Given the description of an element on the screen output the (x, y) to click on. 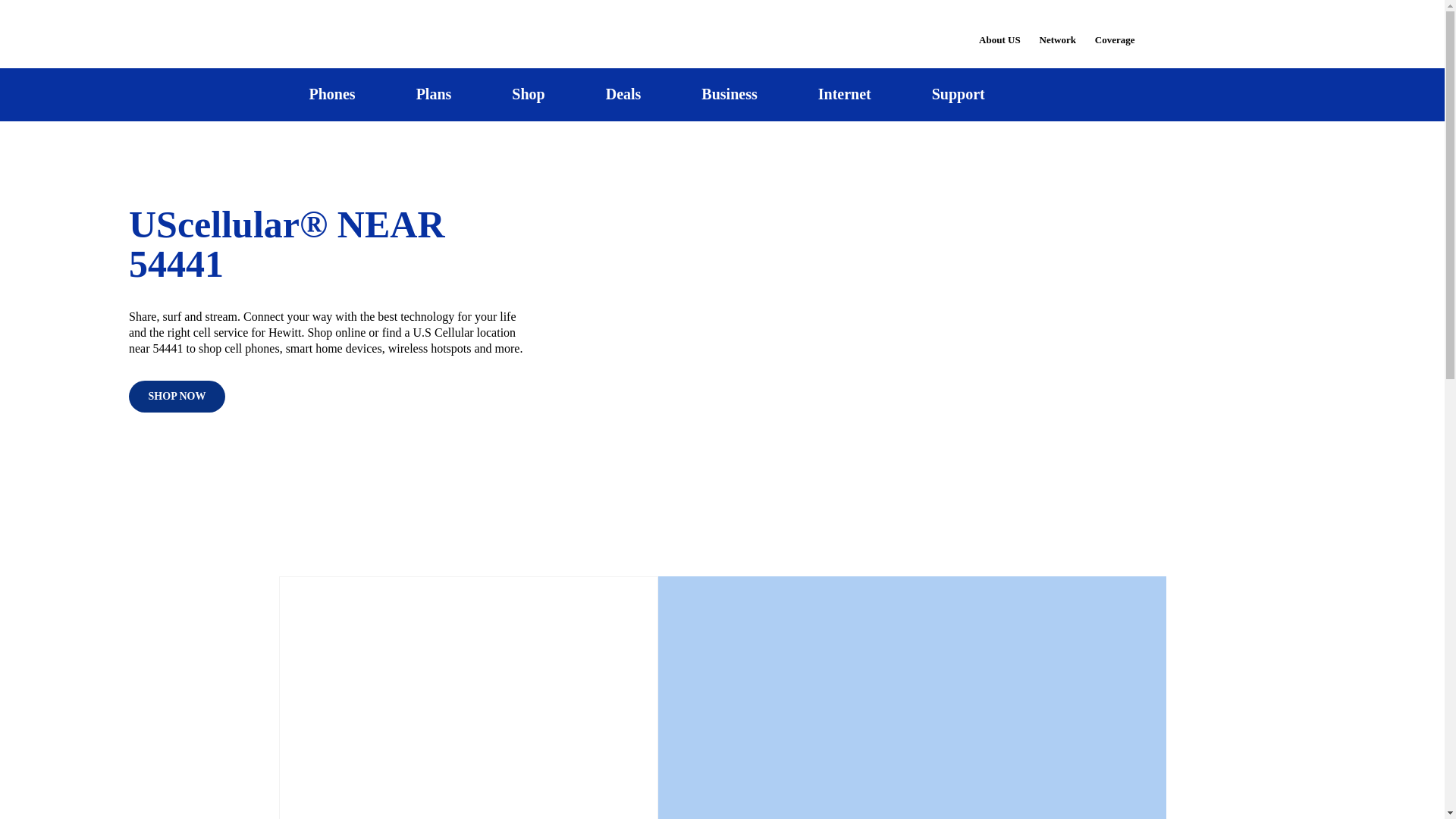
Phones (332, 94)
Internet (844, 94)
Network (1057, 30)
Shop (528, 94)
Plans (433, 94)
About US (999, 30)
Coverage (1115, 29)
Deals (623, 94)
Support (957, 94)
Business (729, 94)
